Given the description of an element on the screen output the (x, y) to click on. 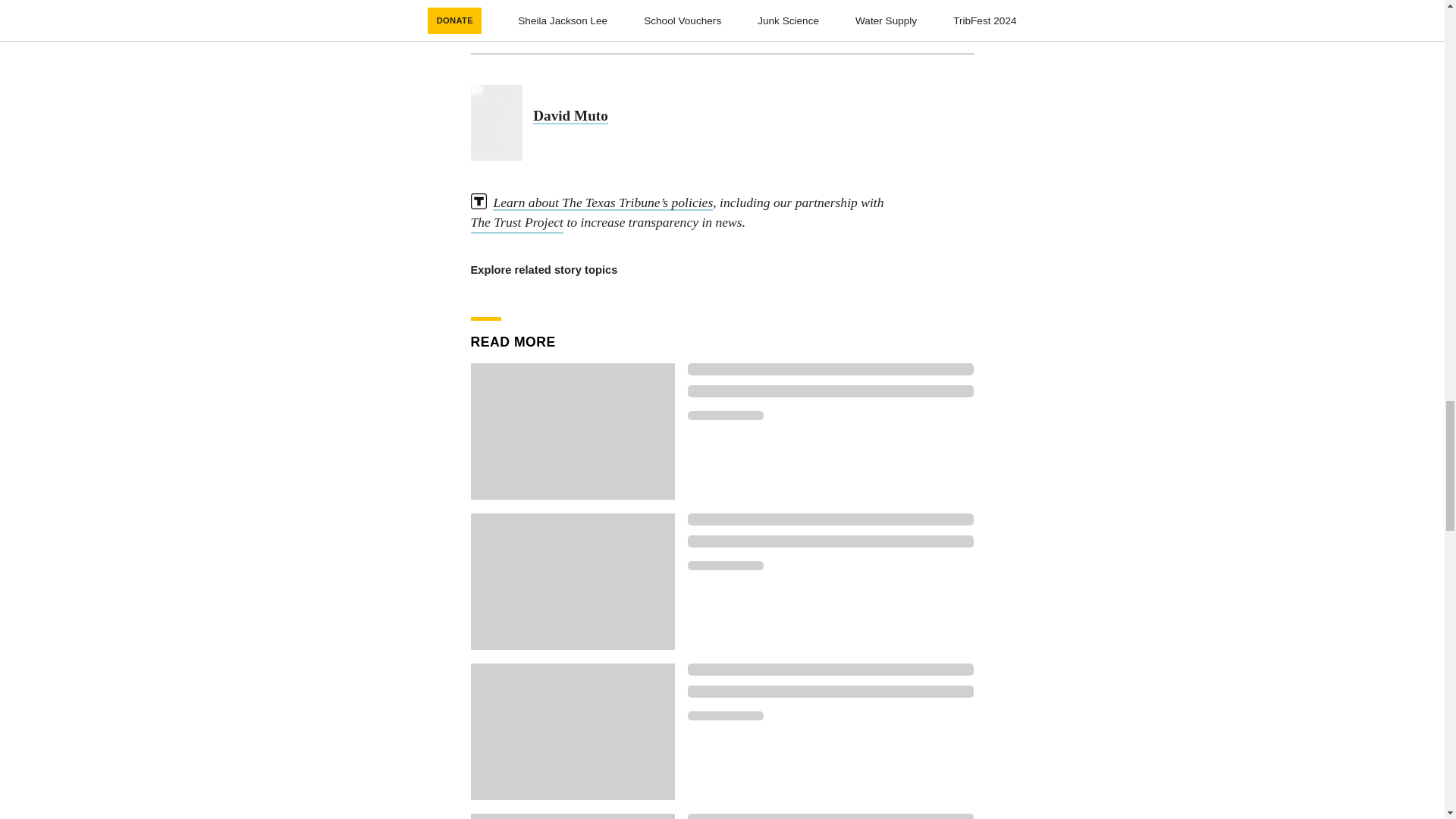
Loading indicator (724, 565)
Loading indicator (830, 541)
Loading indicator (830, 369)
Loading indicator (830, 691)
Loading indicator (830, 669)
Loading indicator (830, 816)
Loading indicator (724, 415)
Loading indicator (724, 715)
Loading indicator (830, 519)
Loading indicator (830, 390)
